Given the description of an element on the screen output the (x, y) to click on. 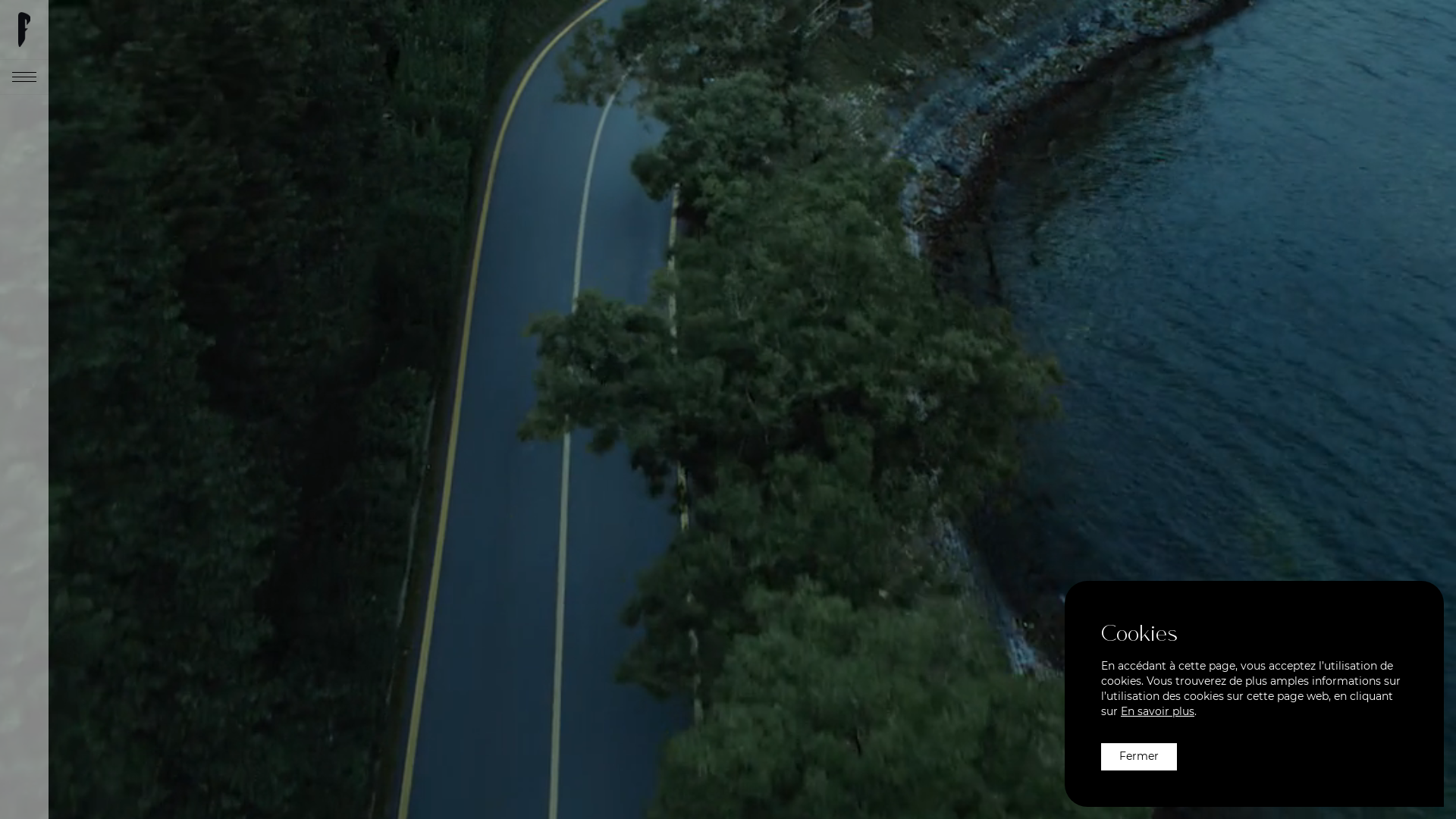
Fermer Element type: text (1138, 756)
En savoir plus Element type: text (1157, 711)
